Given the description of an element on the screen output the (x, y) to click on. 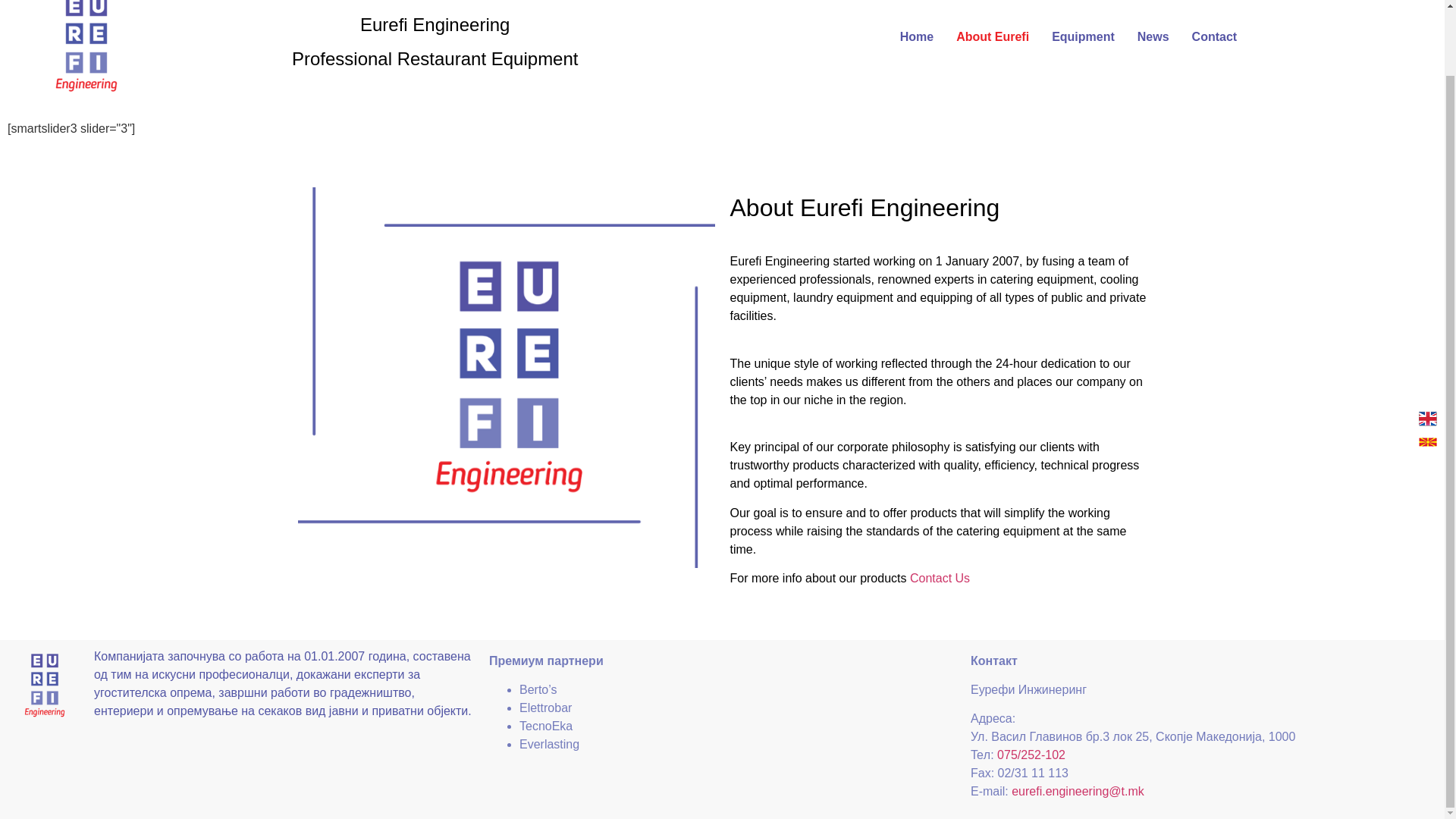
Equipment (1083, 36)
News (1152, 36)
English  (1427, 346)
Home (916, 36)
About Eurefi (992, 36)
Contact Us (939, 577)
Republic of Macedonia (1427, 370)
Contact (1214, 36)
